Given the description of an element on the screen output the (x, y) to click on. 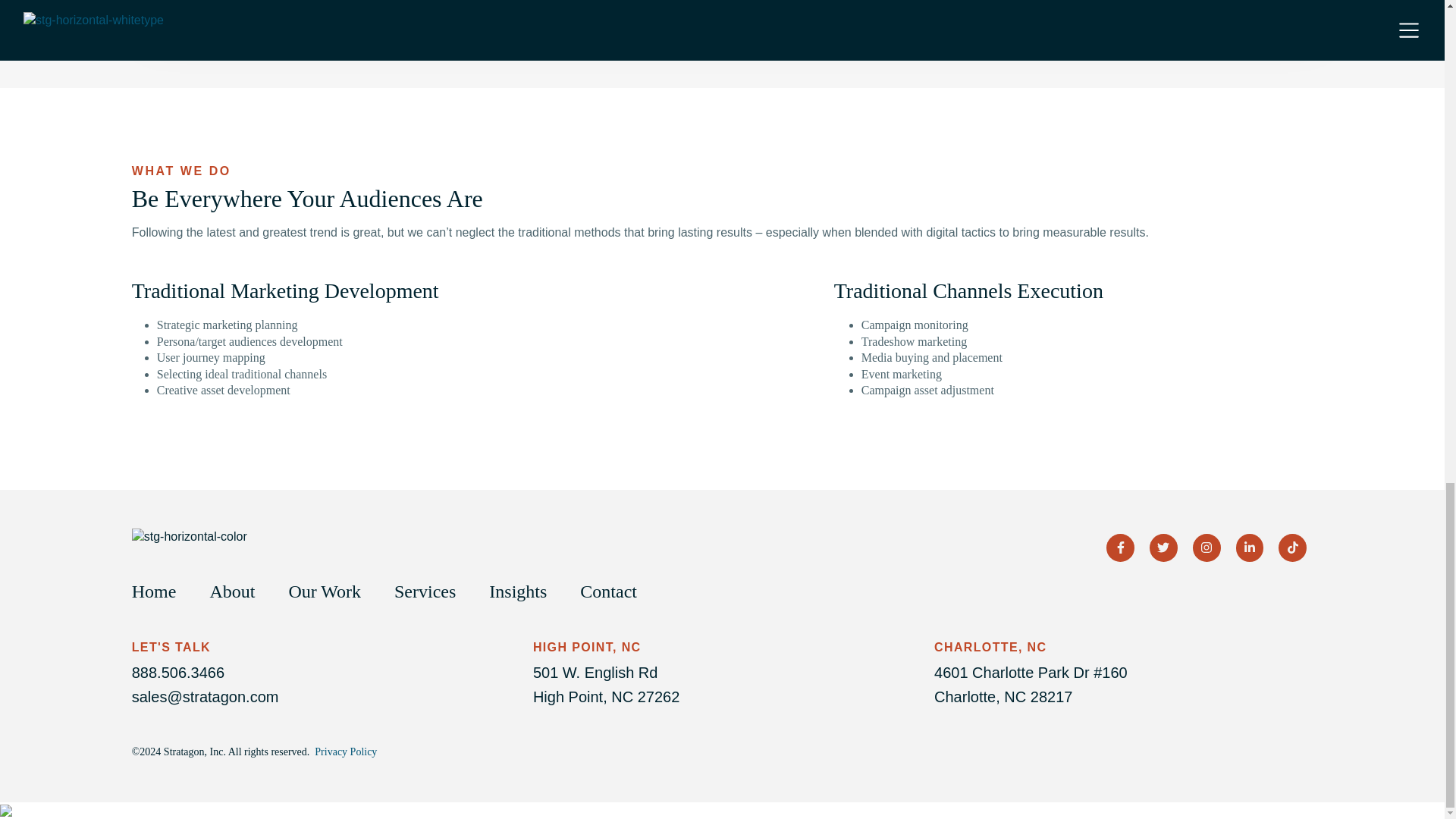
Home (162, 591)
Contact (615, 591)
Services (432, 591)
Privacy Policy (345, 751)
Insights (525, 591)
Our Work (331, 591)
About (239, 591)
